Given the description of an element on the screen output the (x, y) to click on. 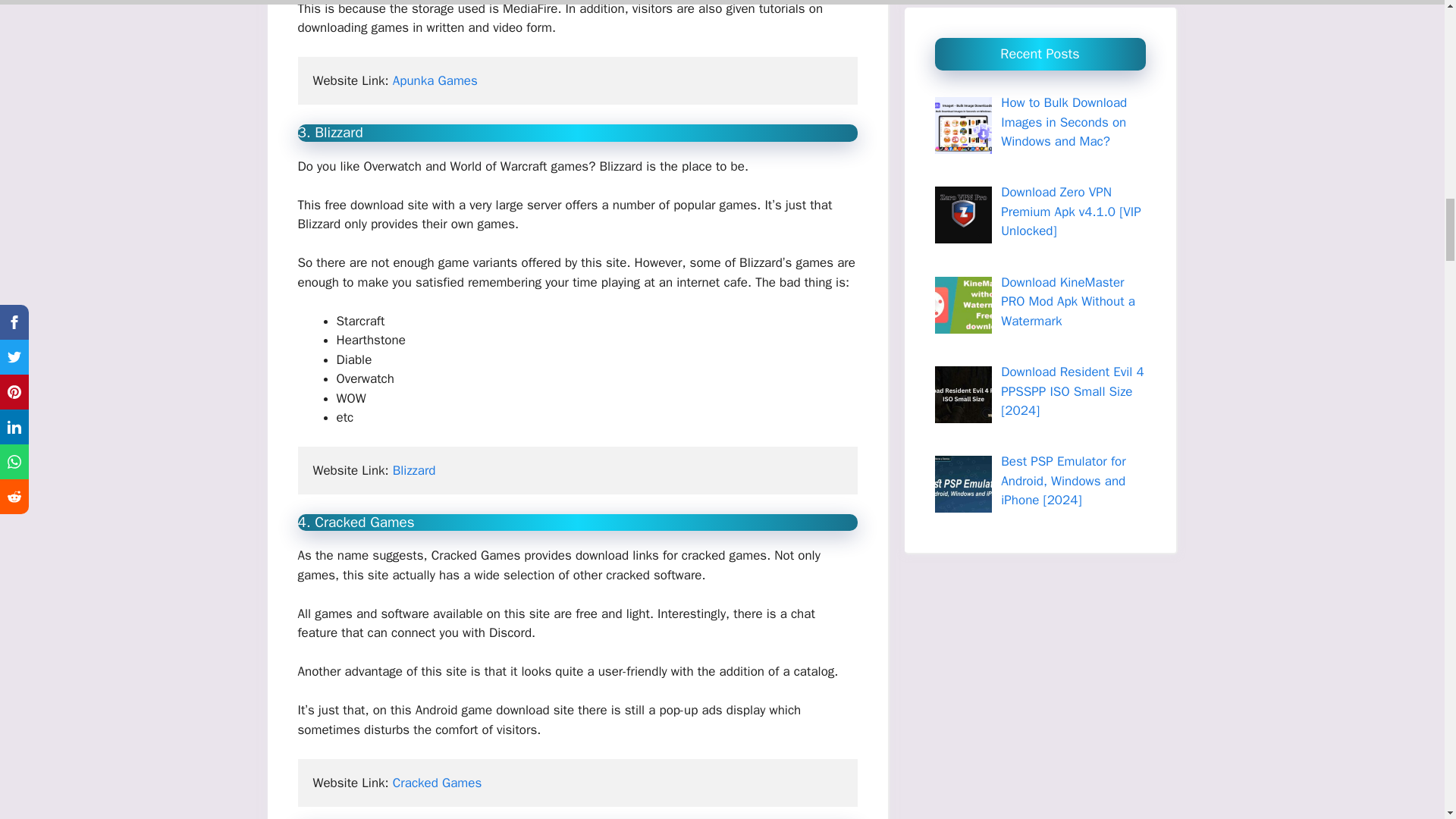
Cracked Games (437, 782)
Apunka Games (435, 80)
Blizzard (414, 470)
